Given the description of an element on the screen output the (x, y) to click on. 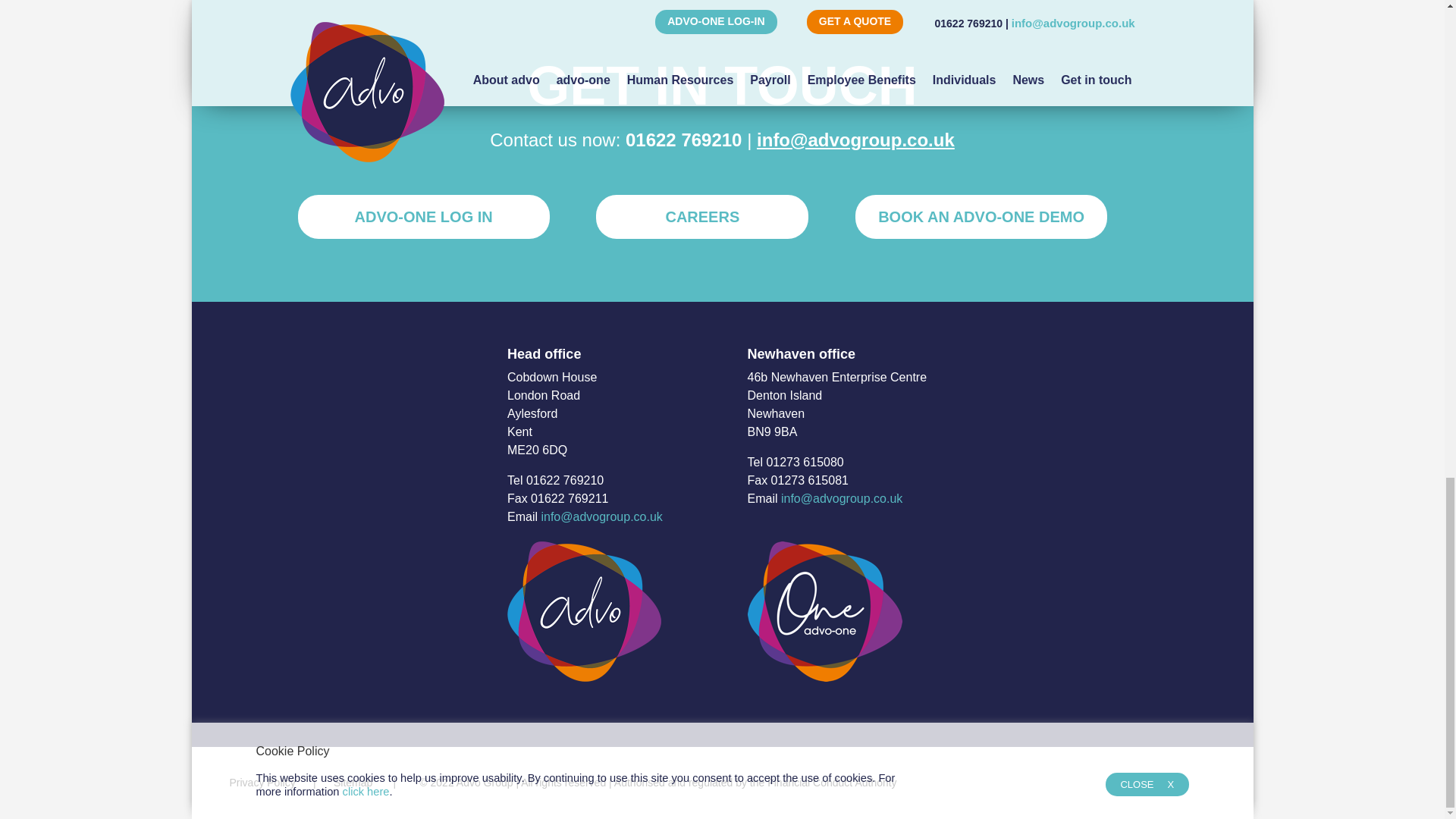
advo-logo (584, 611)
advo-one-logo (825, 611)
